Given the description of an element on the screen output the (x, y) to click on. 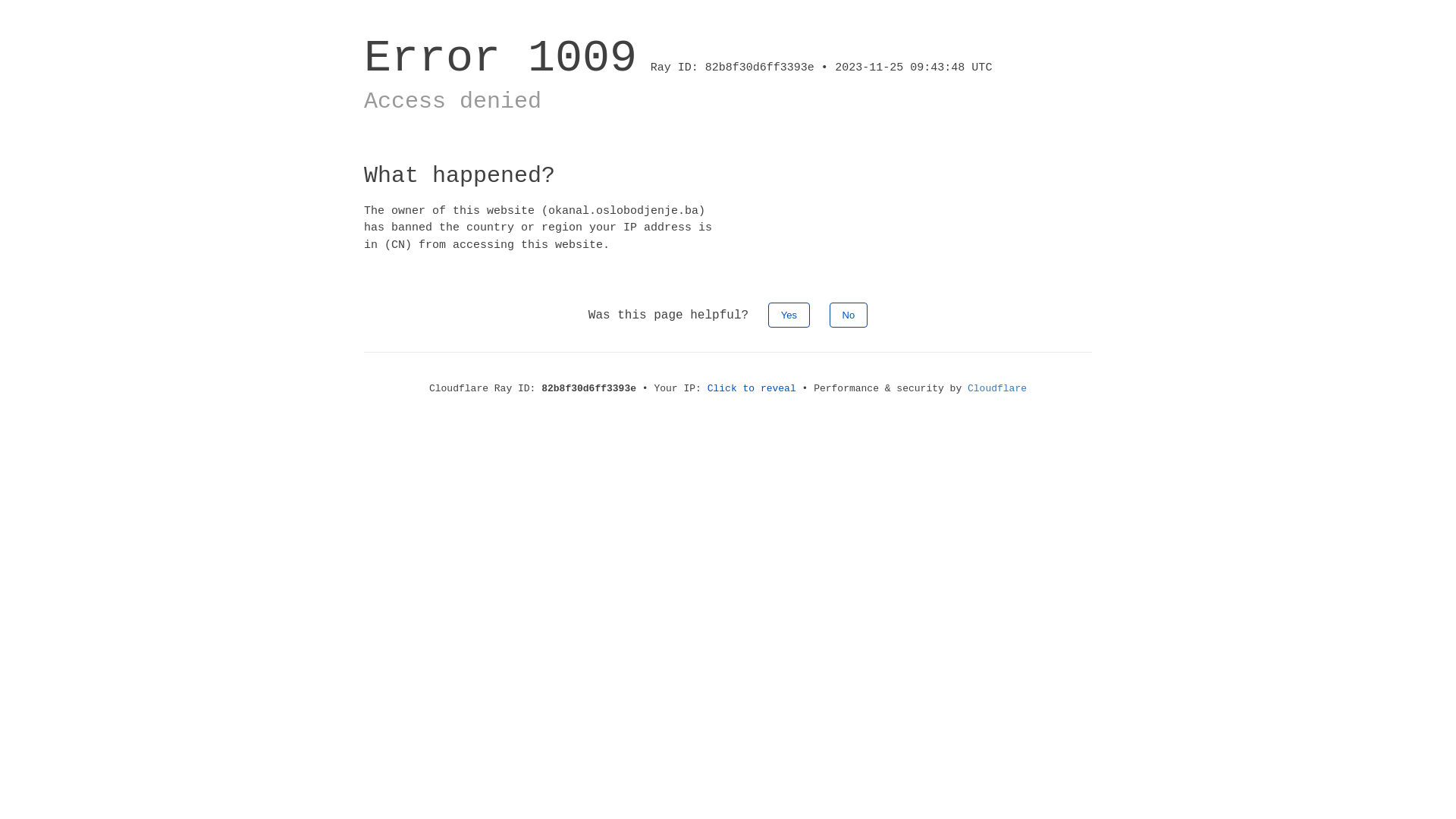
Click to reveal Element type: text (751, 388)
No Element type: text (848, 314)
Yes Element type: text (788, 314)
Cloudflare Element type: text (996, 388)
